Given the description of an element on the screen output the (x, y) to click on. 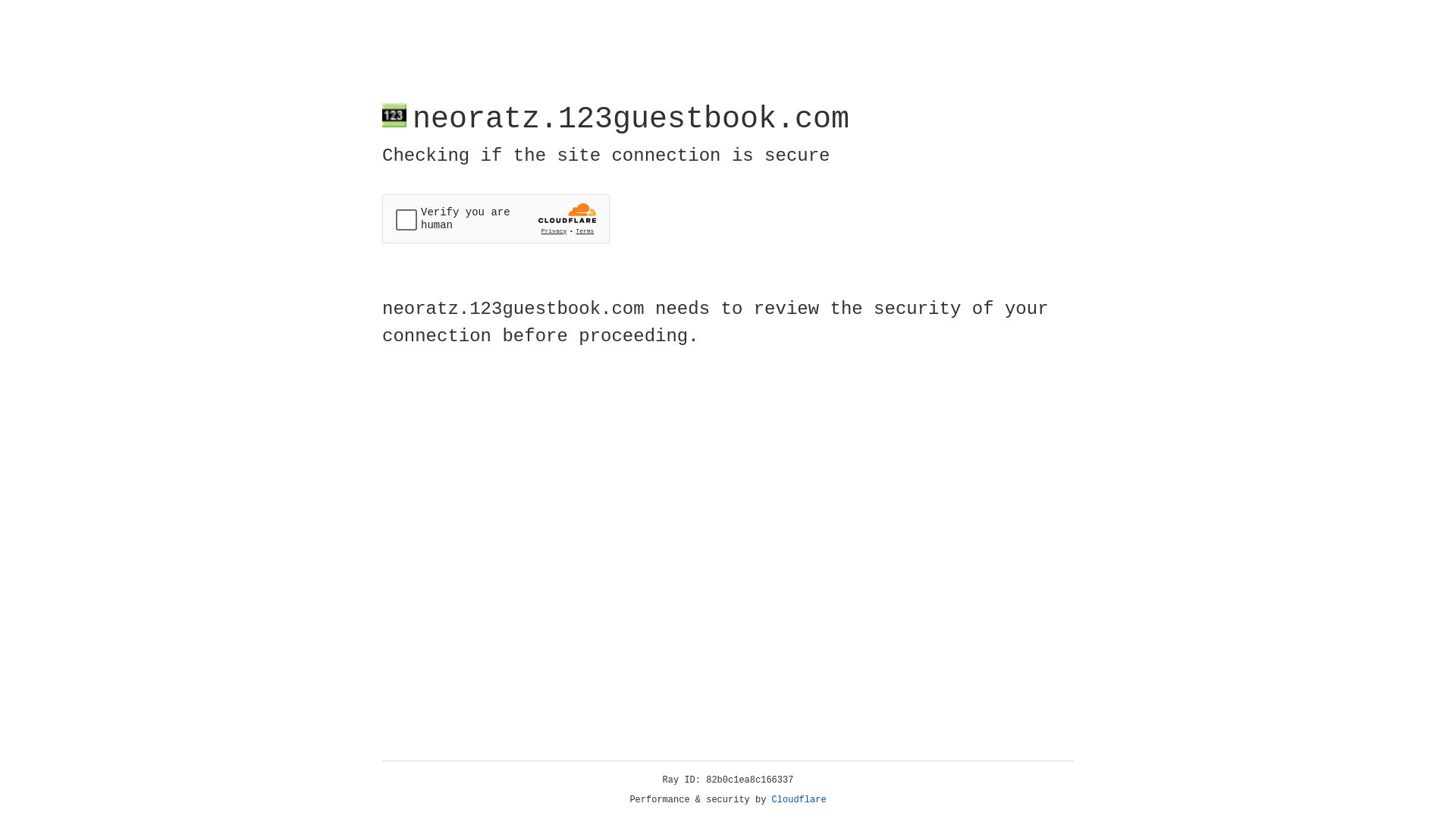
Widget containing a Cloudflare security challenge Element type: hover (495, 218)
Cloudflare Element type: text (798, 799)
